Given the description of an element on the screen output the (x, y) to click on. 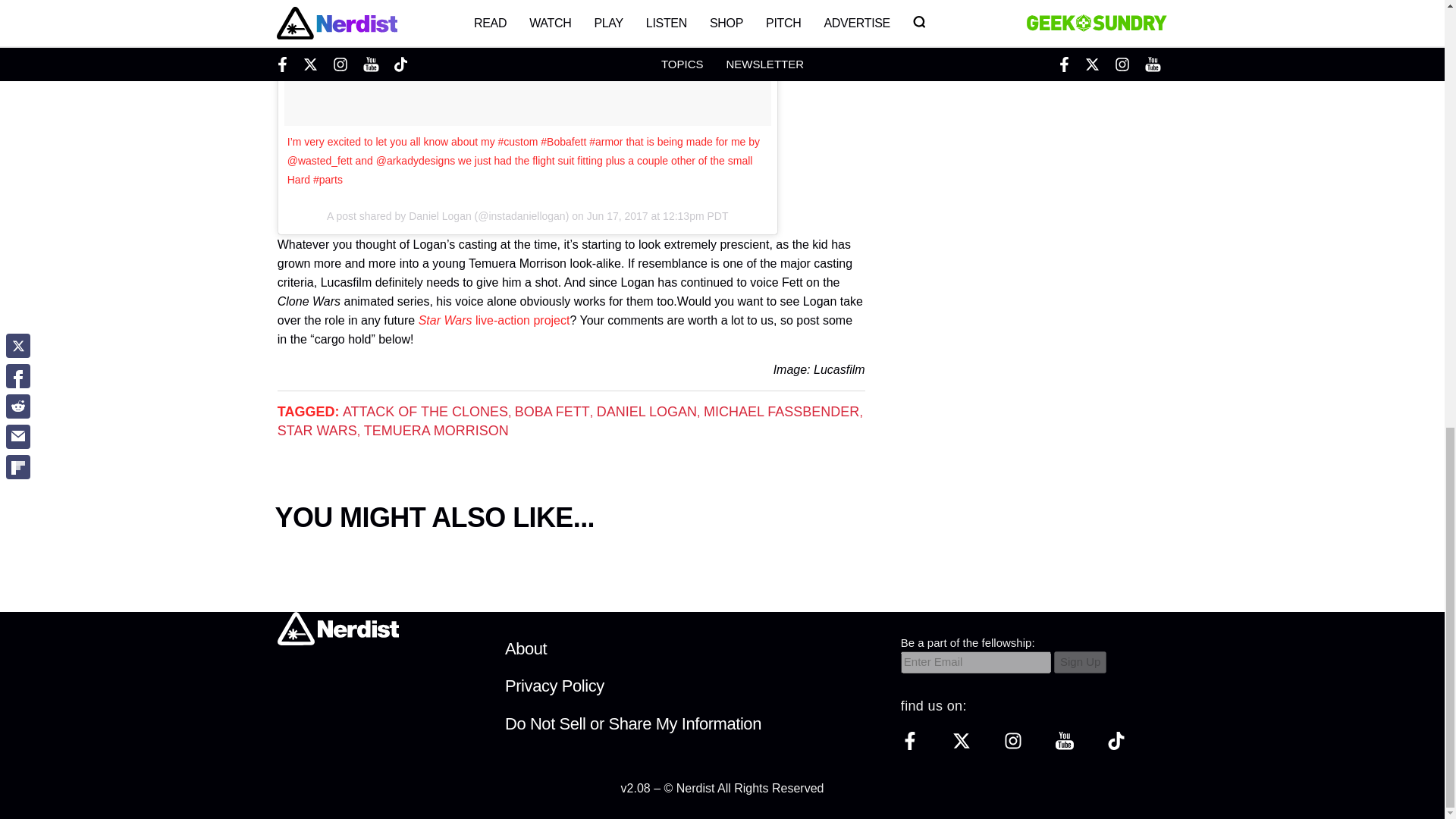
Star Wars (445, 319)
Sign Up (1080, 662)
STAR WARS (317, 430)
live-action project (523, 319)
DANIEL LOGAN (646, 411)
MICHAEL FASSBENDER (781, 411)
BOBA FETT (552, 411)
ATTACK OF THE CLONES (425, 411)
TEMUERA MORRISON (436, 430)
